Given the description of an element on the screen output the (x, y) to click on. 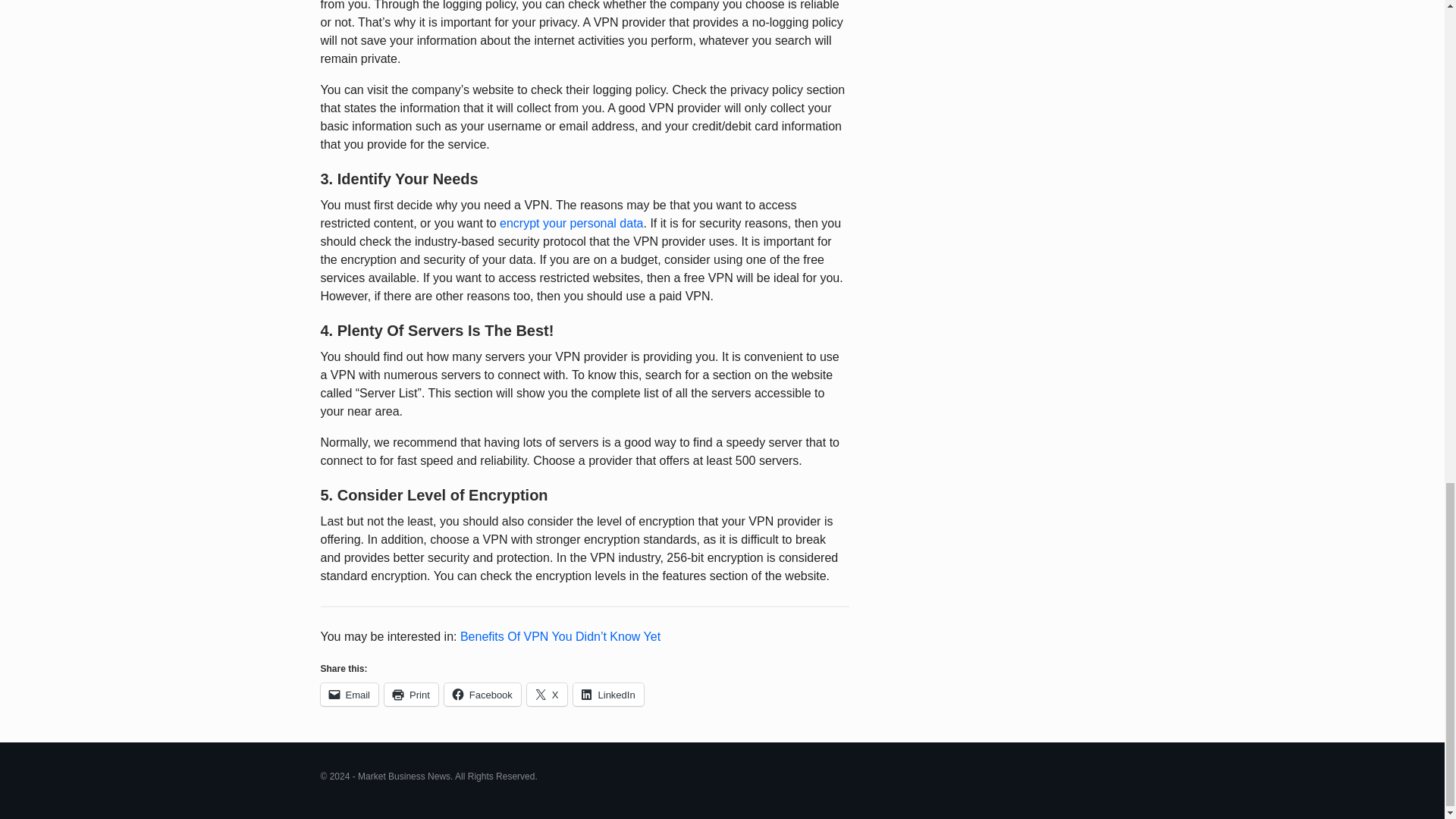
X (547, 694)
Click to share on LinkedIn (608, 694)
Click to email a link to a friend (349, 694)
Click to share on X (547, 694)
Click to print (411, 694)
encrypt your personal data (571, 223)
LinkedIn (608, 694)
Facebook (482, 694)
Click to share on Facebook (482, 694)
Print (411, 694)
Email (349, 694)
